Given the description of an element on the screen output the (x, y) to click on. 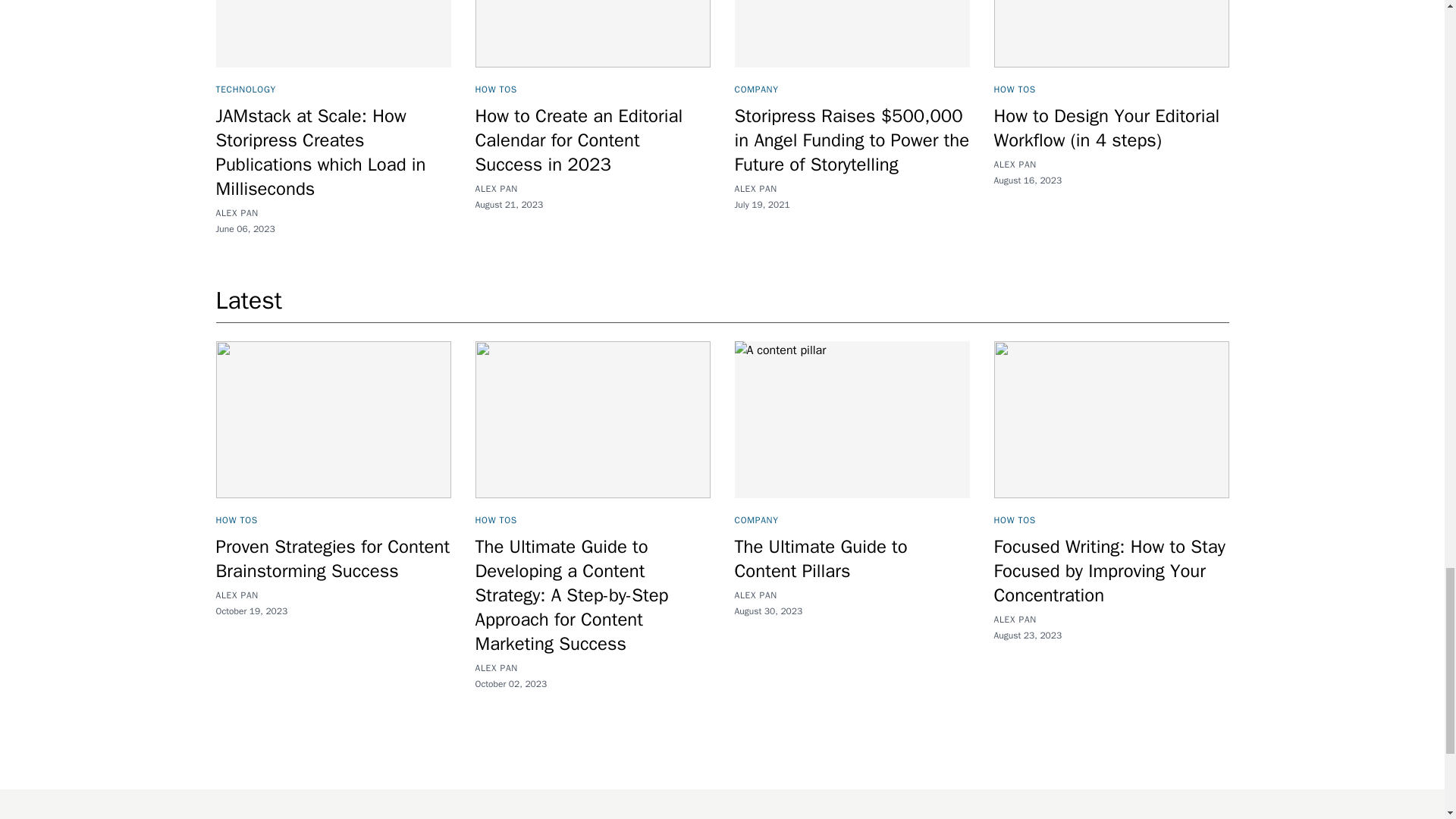
ALEX PAN (754, 188)
HOW TOS (495, 520)
HOW TOS (236, 520)
ALEX PAN (1013, 164)
HOW TOS (495, 89)
COMPANY (755, 520)
ALEX PAN (754, 594)
ALEX PAN (495, 188)
